Given the description of an element on the screen output the (x, y) to click on. 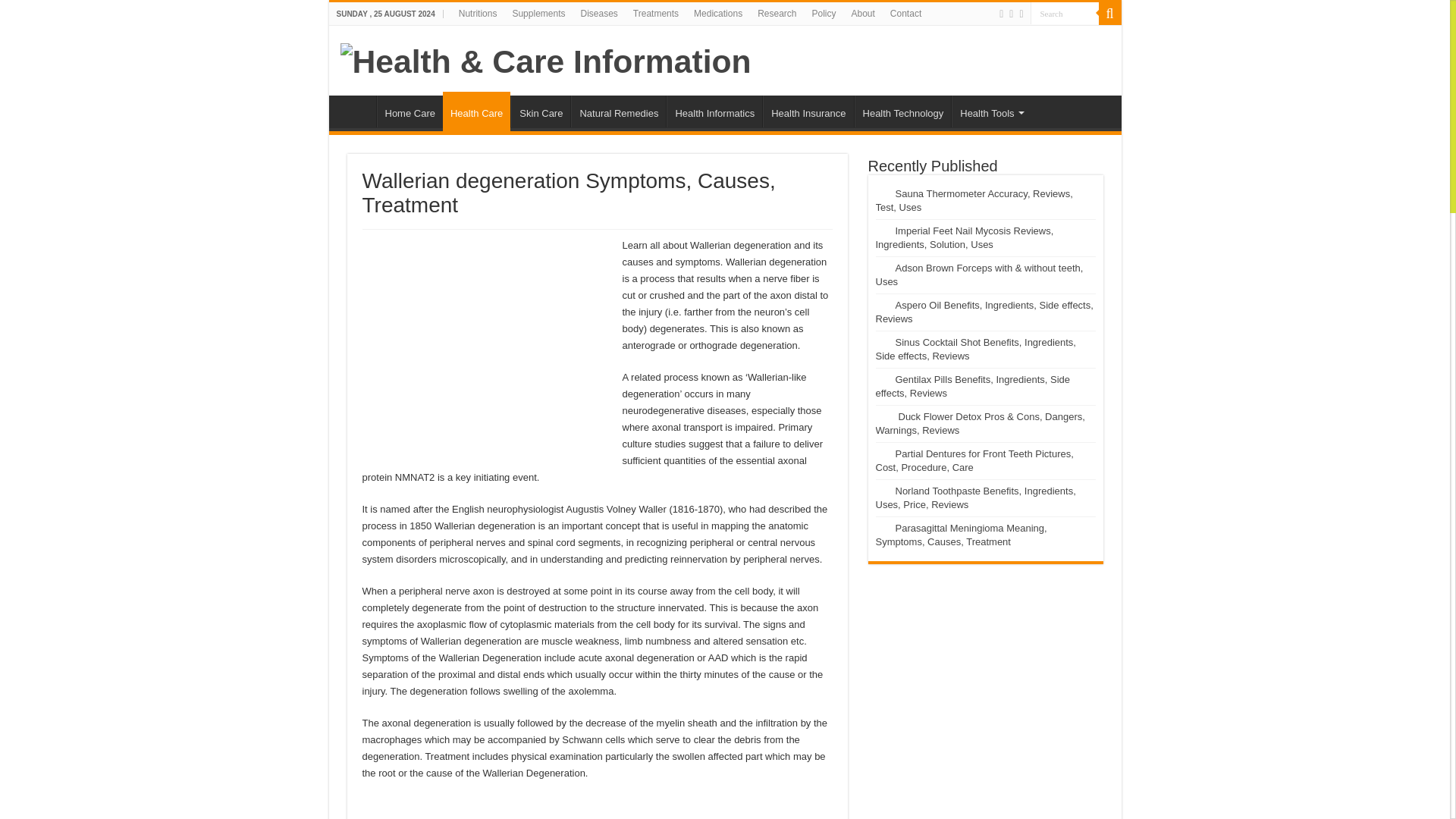
Research (776, 13)
Home (355, 111)
Skin Care (540, 111)
Contact (905, 13)
Search (1109, 13)
Policy (823, 13)
Search (1063, 13)
Health Informatics (713, 111)
Health Insurance (807, 111)
